Given the description of an element on the screen output the (x, y) to click on. 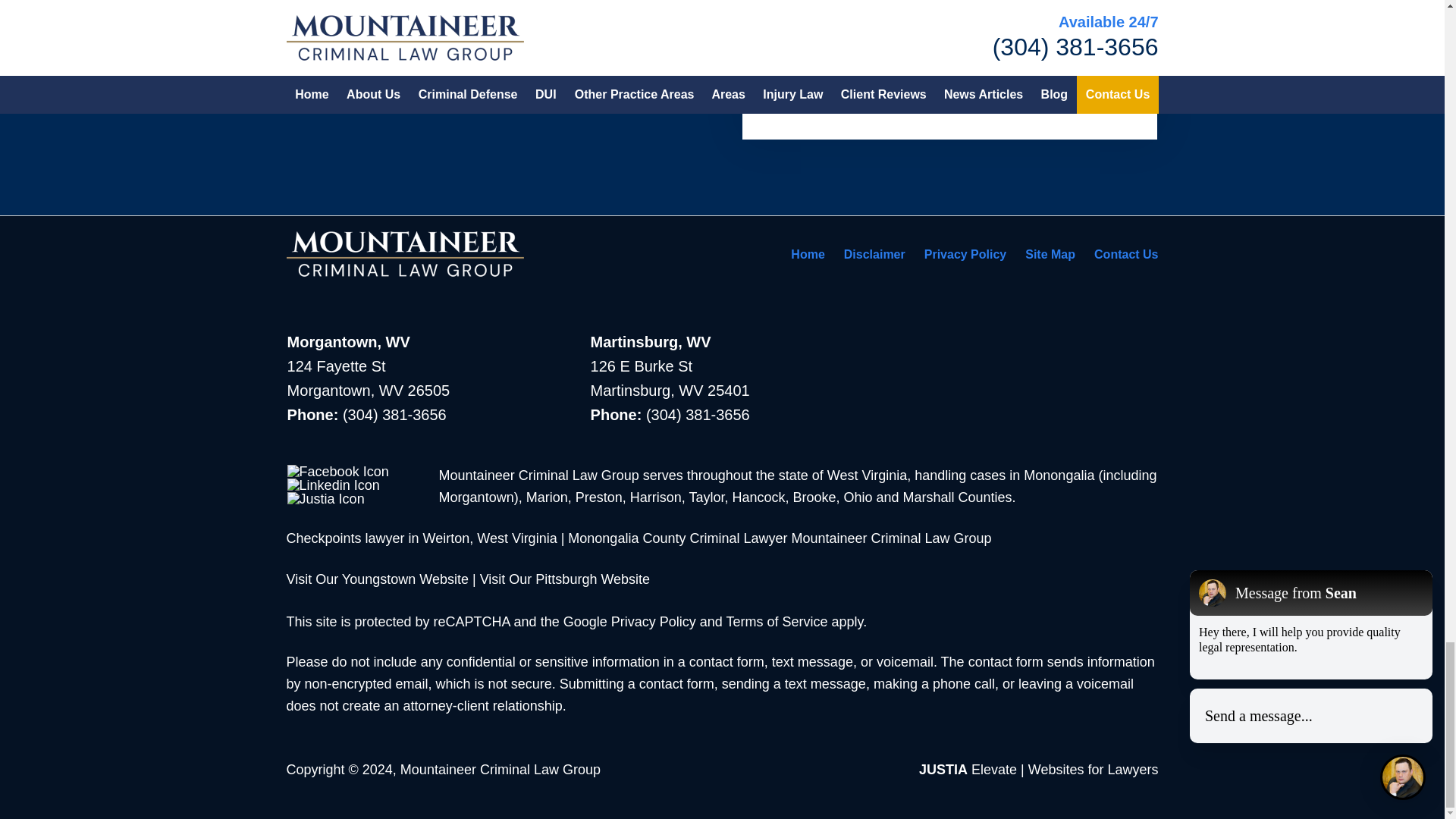
Linkedin (333, 485)
Justia (325, 499)
Facebook (337, 471)
